Given the description of an element on the screen output the (x, y) to click on. 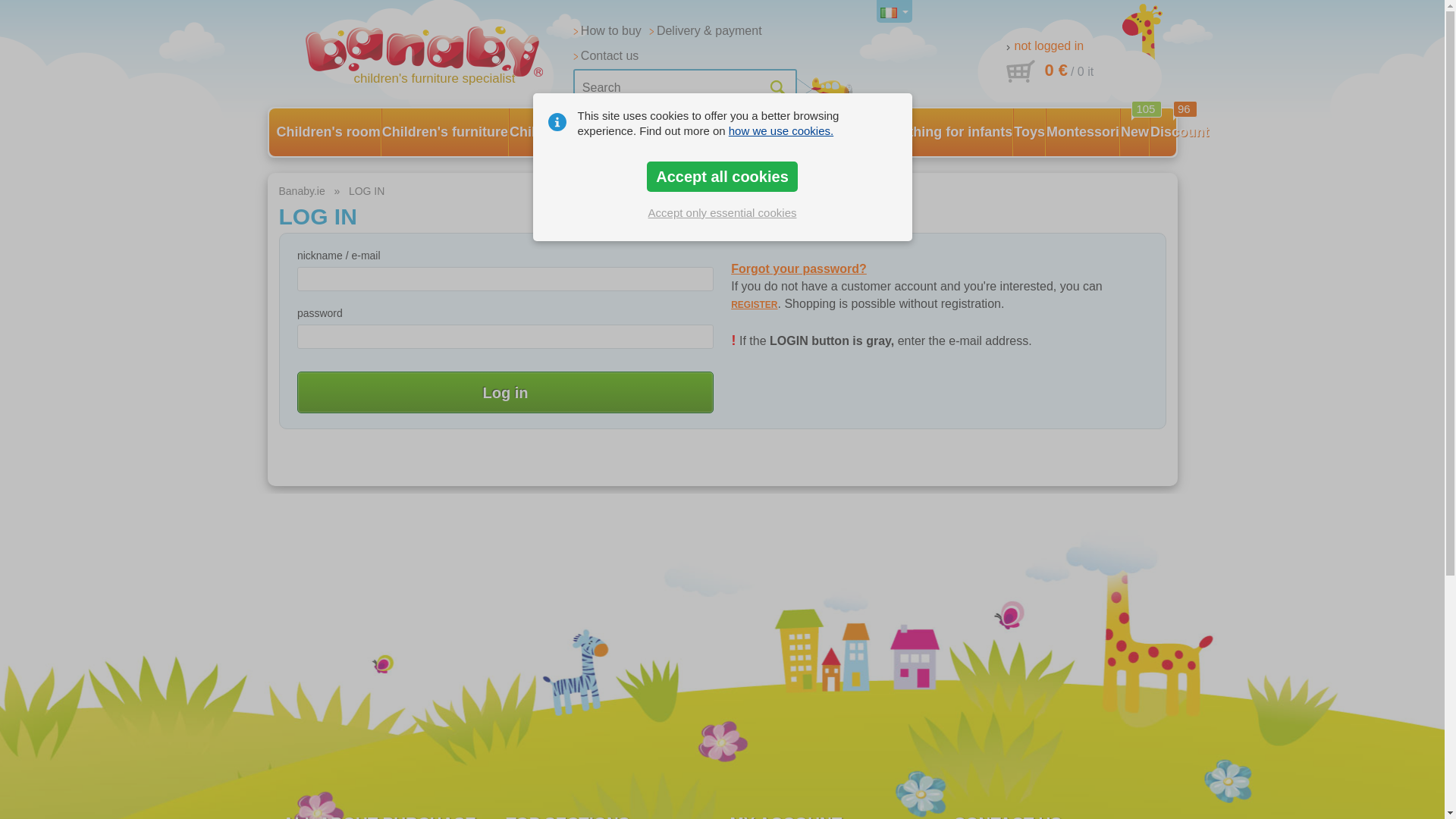
OK (777, 87)
back to root - banaby.ie (434, 56)
Children's room (328, 132)
Search (684, 87)
Log in (505, 392)
Search (684, 87)
How to buy (607, 31)
Children's furniture (444, 132)
Contact us (606, 56)
not logged in (1044, 46)
